Given the description of an element on the screen output the (x, y) to click on. 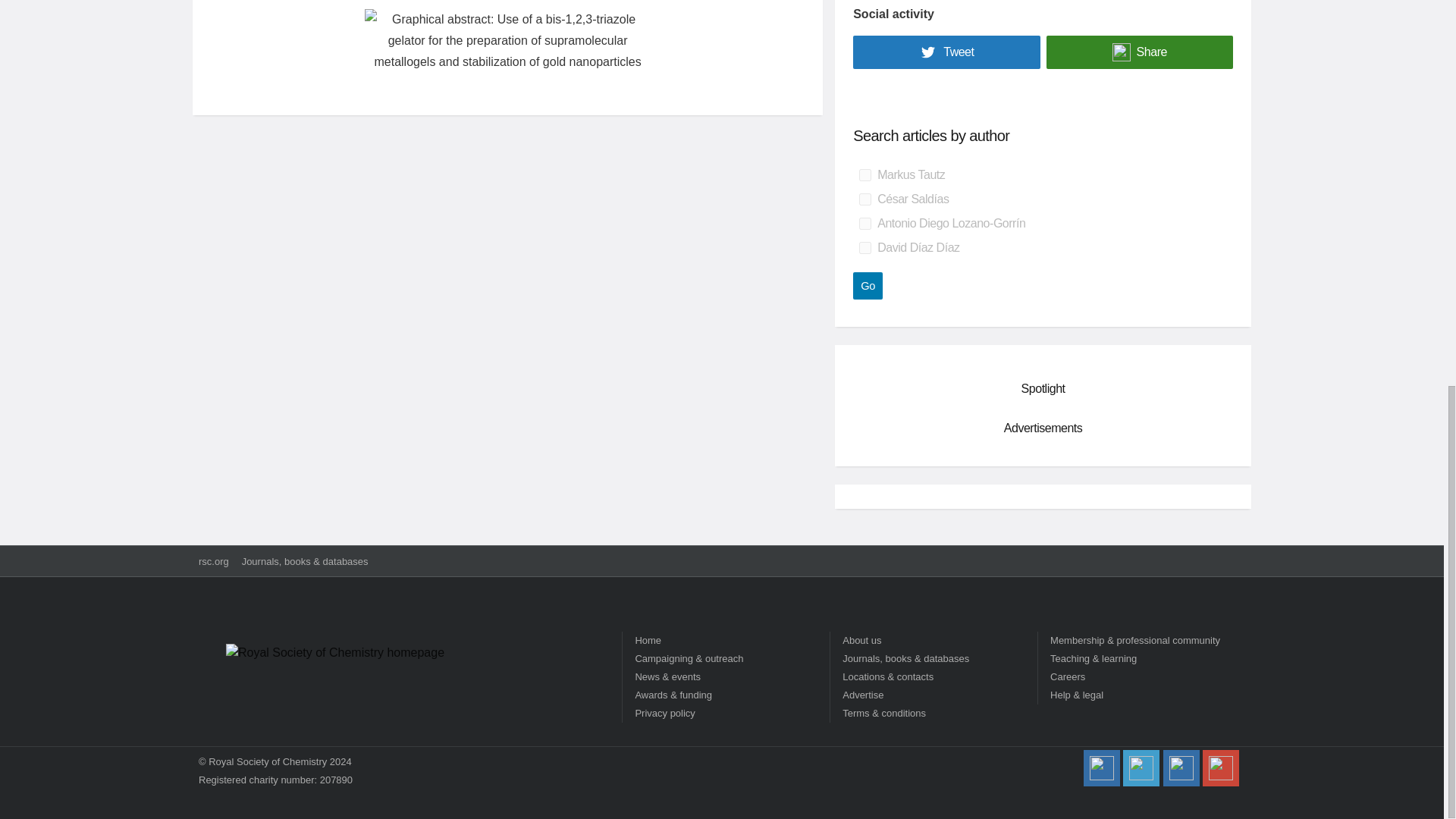
on (864, 174)
on (864, 247)
on (864, 199)
Go (867, 285)
Go (867, 285)
on (864, 223)
